Given the description of an element on the screen output the (x, y) to click on. 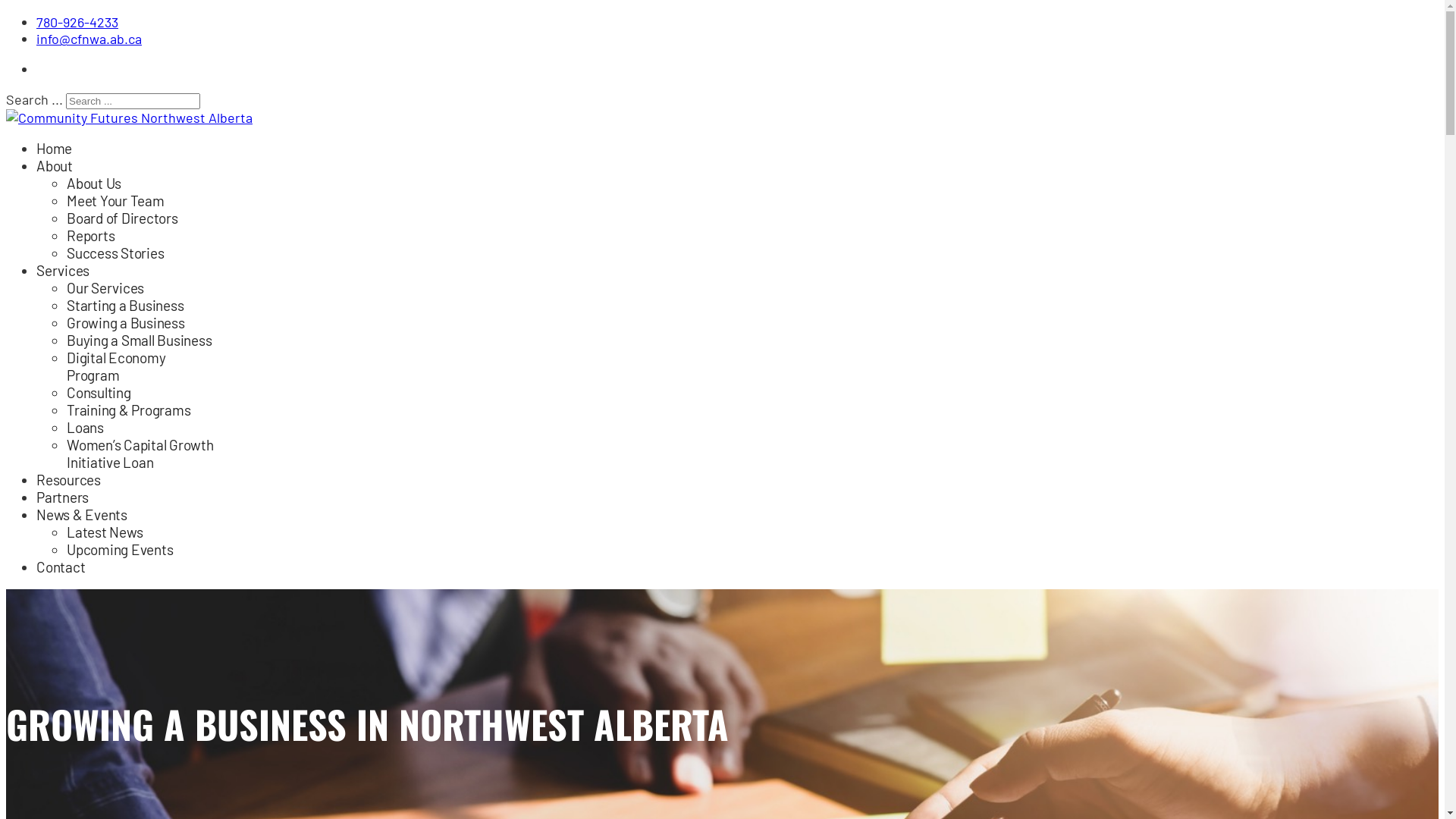
Our Services Element type: text (105, 287)
About Us Element type: text (93, 182)
Loans Element type: text (84, 427)
Digital Economy Program Element type: text (115, 365)
Starting a Business Element type: text (124, 304)
Contact Element type: text (60, 566)
info@cfnwa.ab.ca Element type: text (88, 38)
Buying a Small Business Element type: text (138, 339)
Reports Element type: text (90, 235)
Growing a Business Element type: text (125, 322)
Meet Your Team Element type: text (115, 200)
Board of Directors Element type: text (122, 217)
Latest News Element type: text (104, 531)
Consulting Element type: text (98, 392)
Resources Element type: text (68, 479)
780-926-4233 Element type: text (77, 21)
Training & Programs Element type: text (128, 409)
Partners Element type: text (62, 496)
Home Element type: text (54, 147)
Success Stories Element type: text (114, 252)
Upcoming Events Element type: text (119, 549)
